Given the description of an element on the screen output the (x, y) to click on. 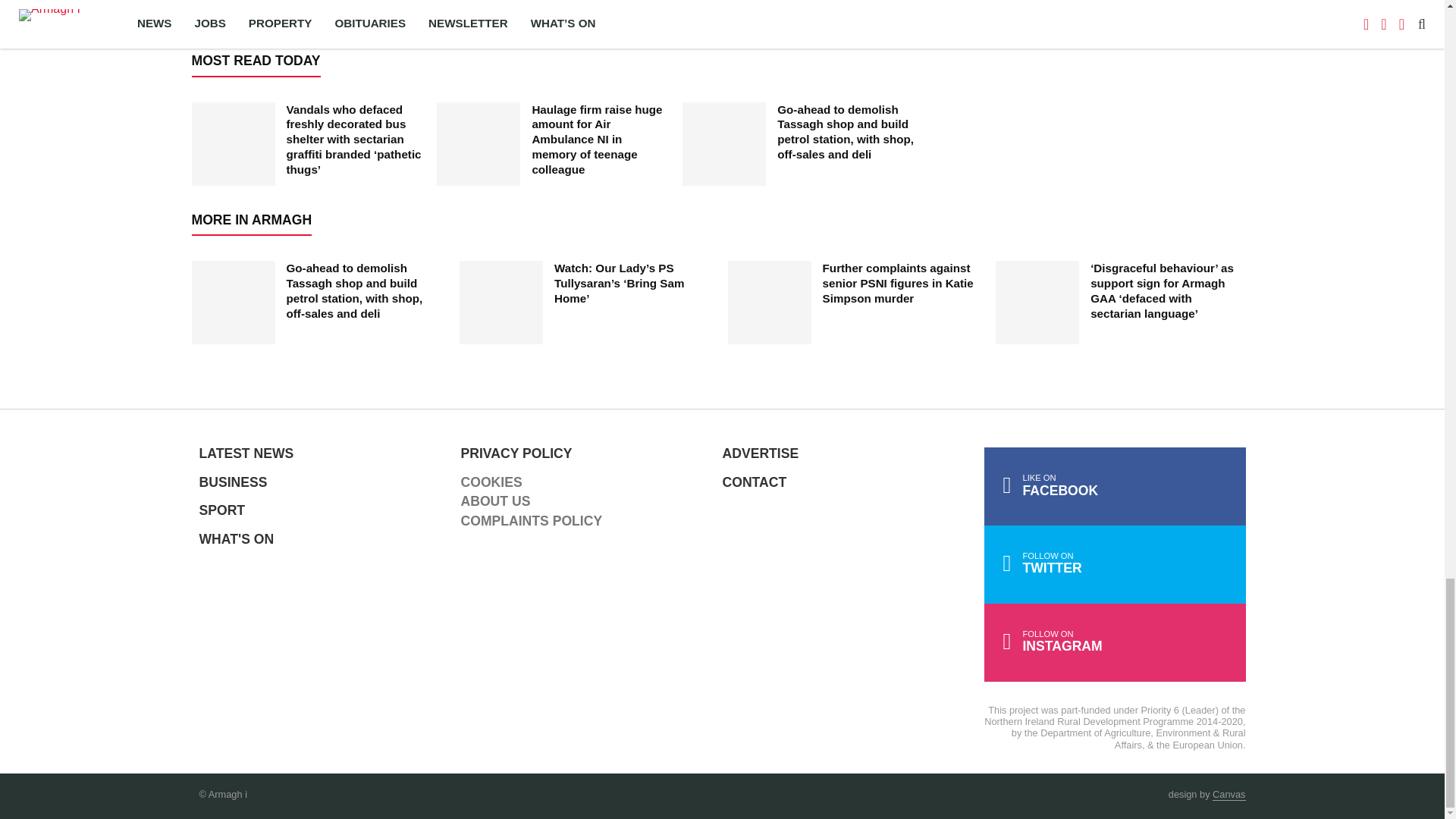
Instagram (1115, 642)
Twitter (1115, 564)
Facebook (1115, 486)
